Given the description of an element on the screen output the (x, y) to click on. 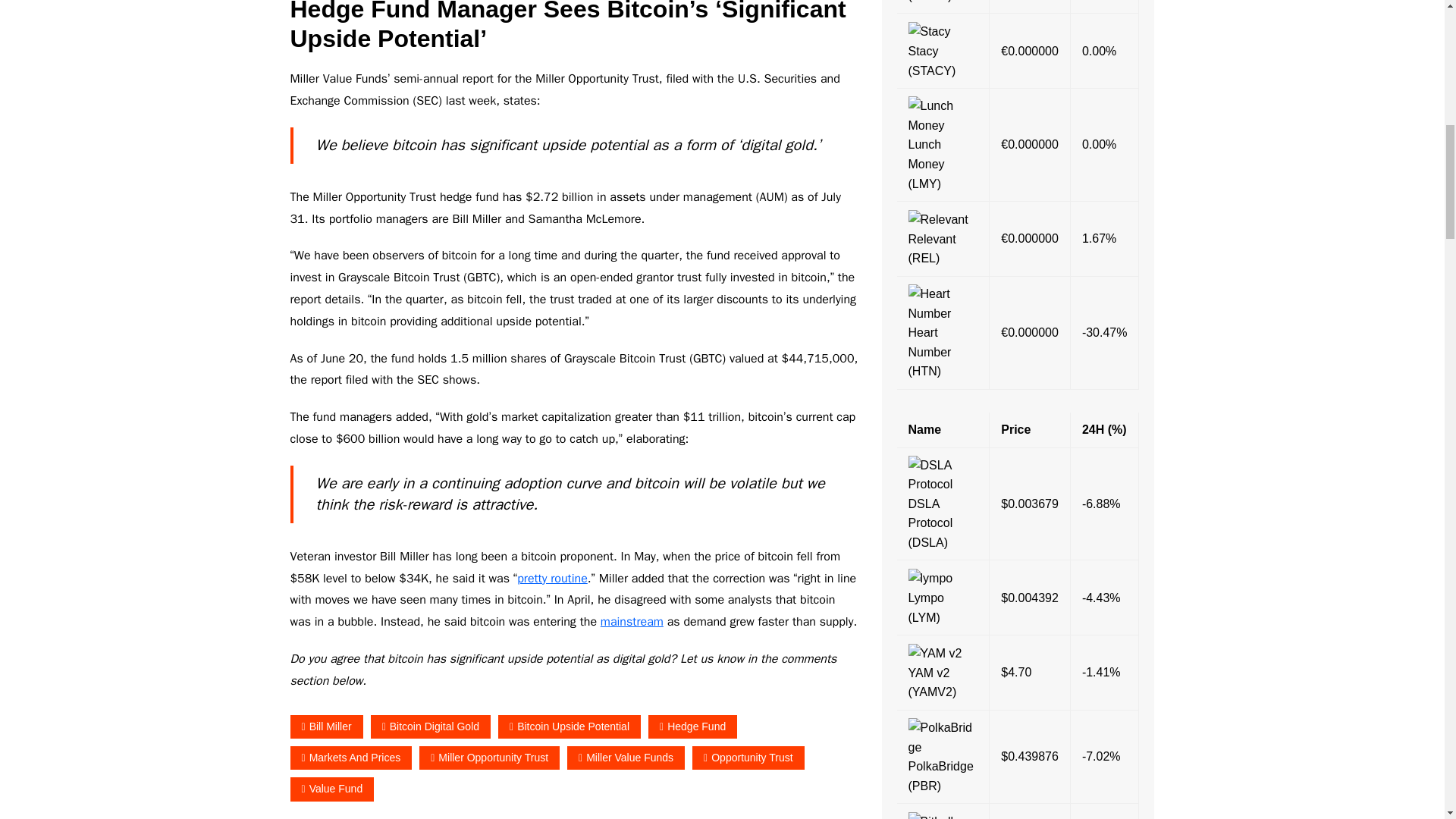
Hedge Fund (691, 726)
mainstream (631, 621)
Bill Miller (325, 726)
Bitcoin Digital Gold (430, 726)
Miller Value Funds (625, 757)
pretty routine (552, 578)
Value Fund (331, 788)
Miller Opportunity Trust (489, 757)
Opportunity Trust (749, 757)
Markets And Prices (350, 757)
Bitcoin Upside Potential (568, 726)
